Given the description of an element on the screen output the (x, y) to click on. 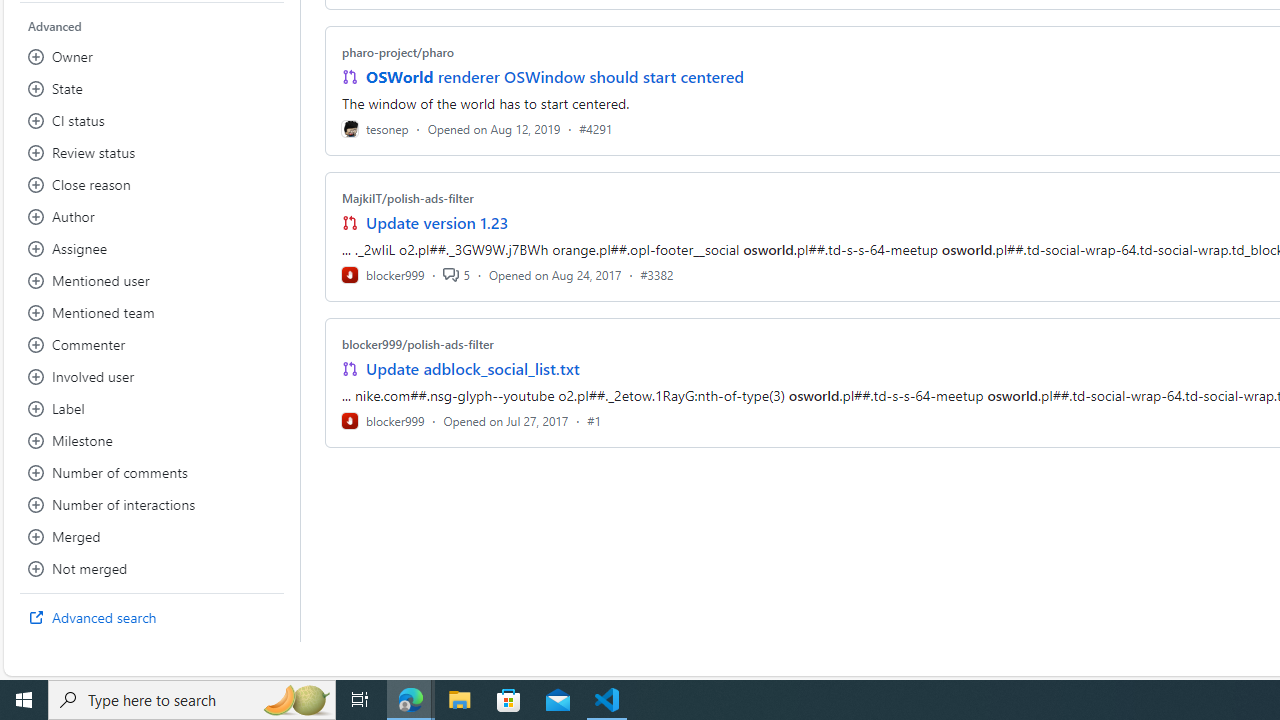
pharo-project/pharo (397, 52)
5 (455, 273)
tesonep (375, 128)
Advanced search (152, 617)
